Given the description of an element on the screen output the (x, y) to click on. 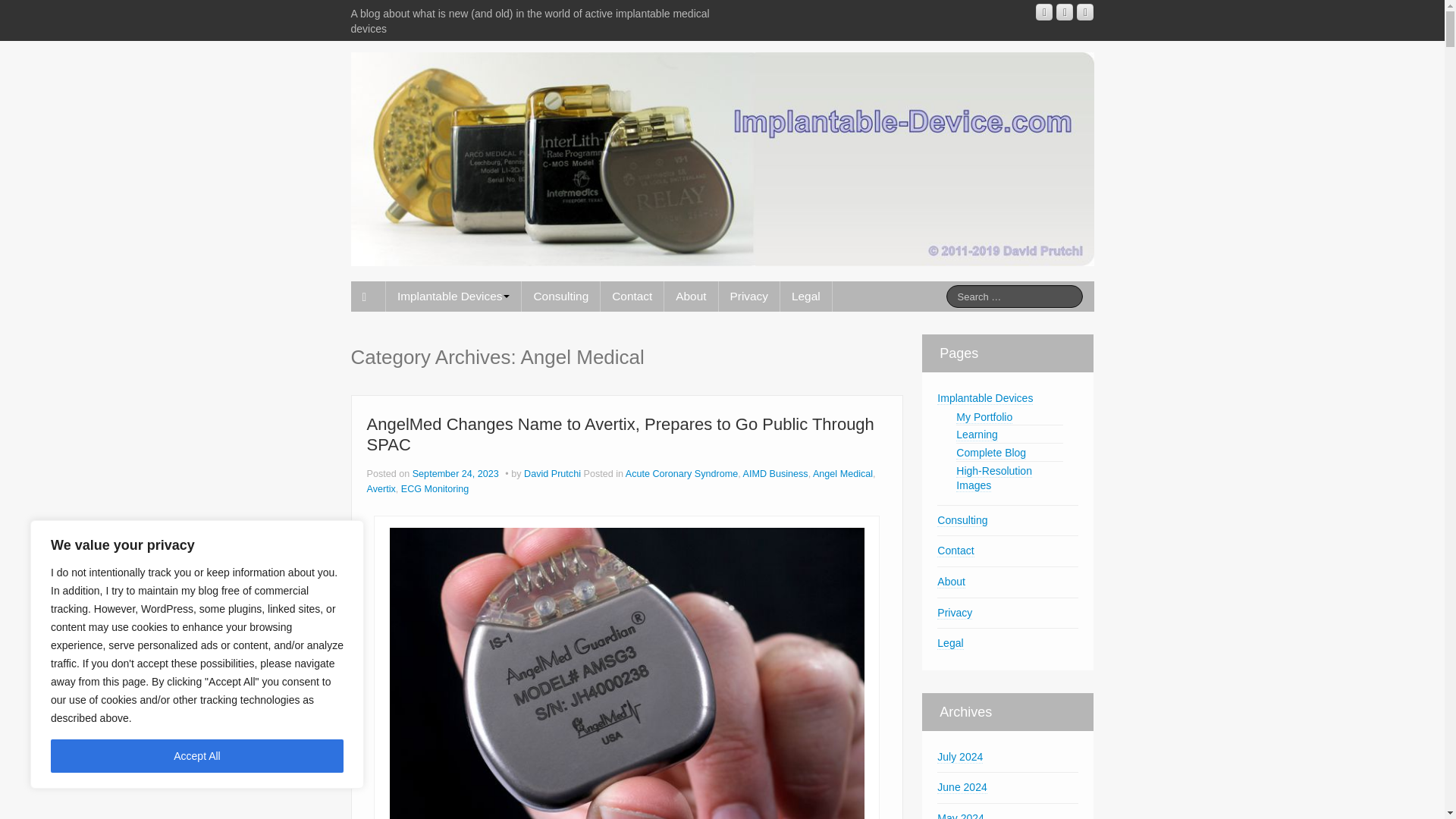
Avertix (381, 489)
David Prutchi (552, 473)
Implantable Devices (453, 296)
ECG Monitoring (434, 489)
The World of Implantable Devices Flickr (1085, 12)
September 24, 2023 (457, 473)
Consulting (560, 296)
View all posts by David Prutchi (552, 473)
The World of Implantable Devices Linkedin (1065, 12)
Contact (631, 296)
The World of Implantable Devices Youtube (1043, 12)
Angel Medical (842, 473)
Acute Coronary Syndrome (682, 473)
